Given the description of an element on the screen output the (x, y) to click on. 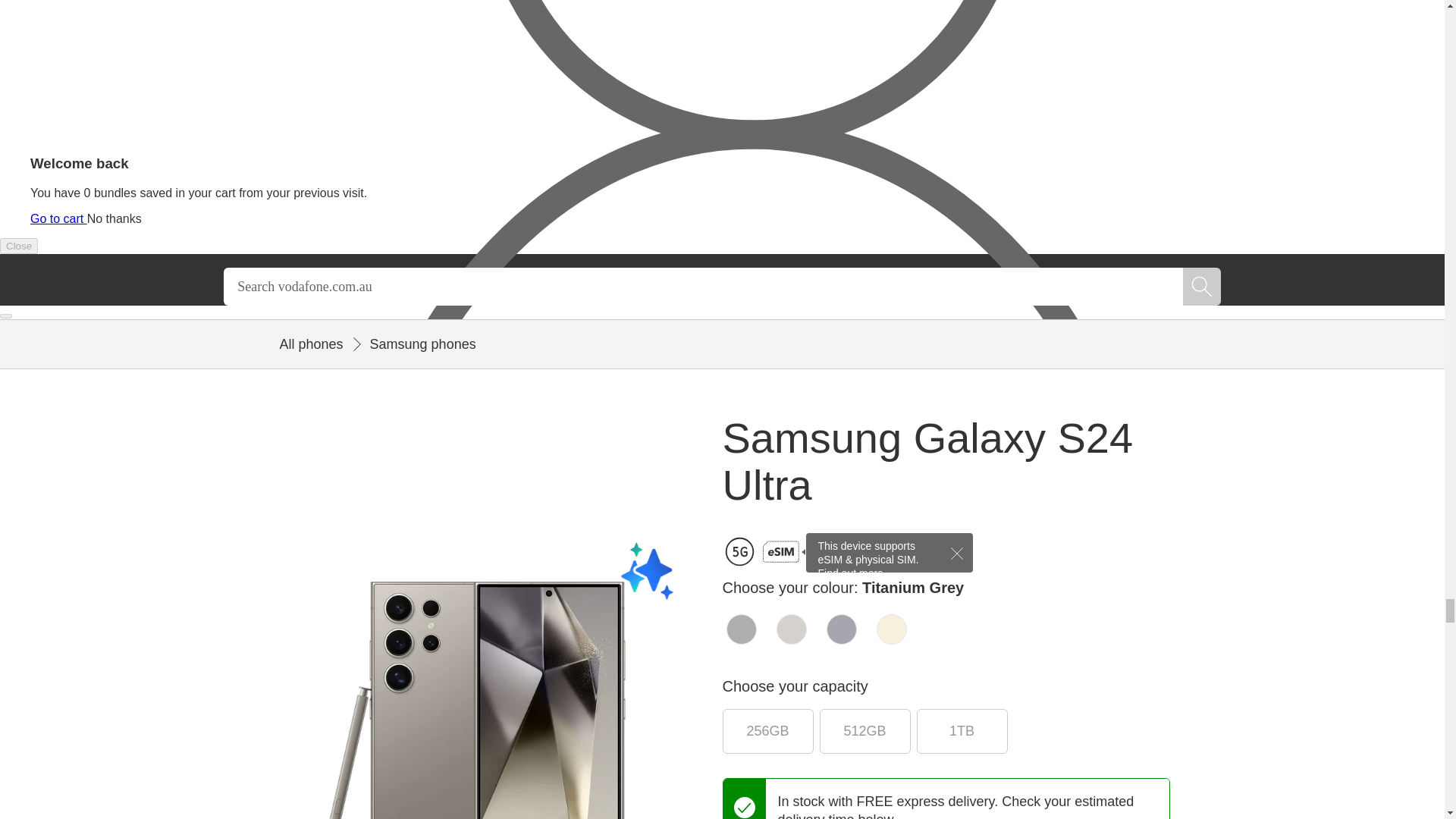
Samsung phones (411, 344)
All phones (308, 344)
Insert Search word (703, 286)
